Given the description of an element on the screen output the (x, y) to click on. 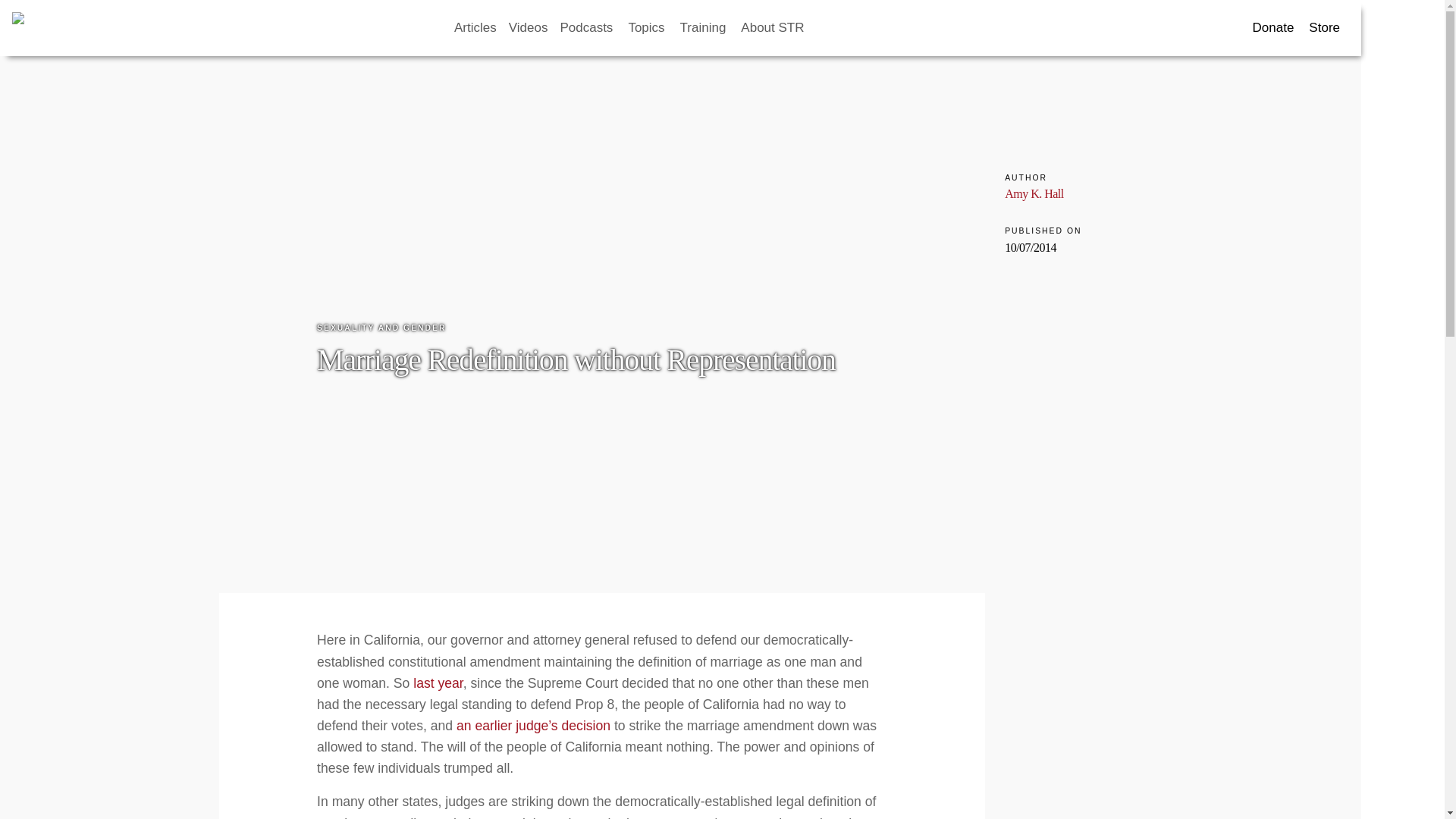
Articles (475, 28)
About STR (773, 28)
Topics (646, 28)
Podcasts (587, 28)
Videos (528, 28)
Training (704, 28)
